Given the description of an element on the screen output the (x, y) to click on. 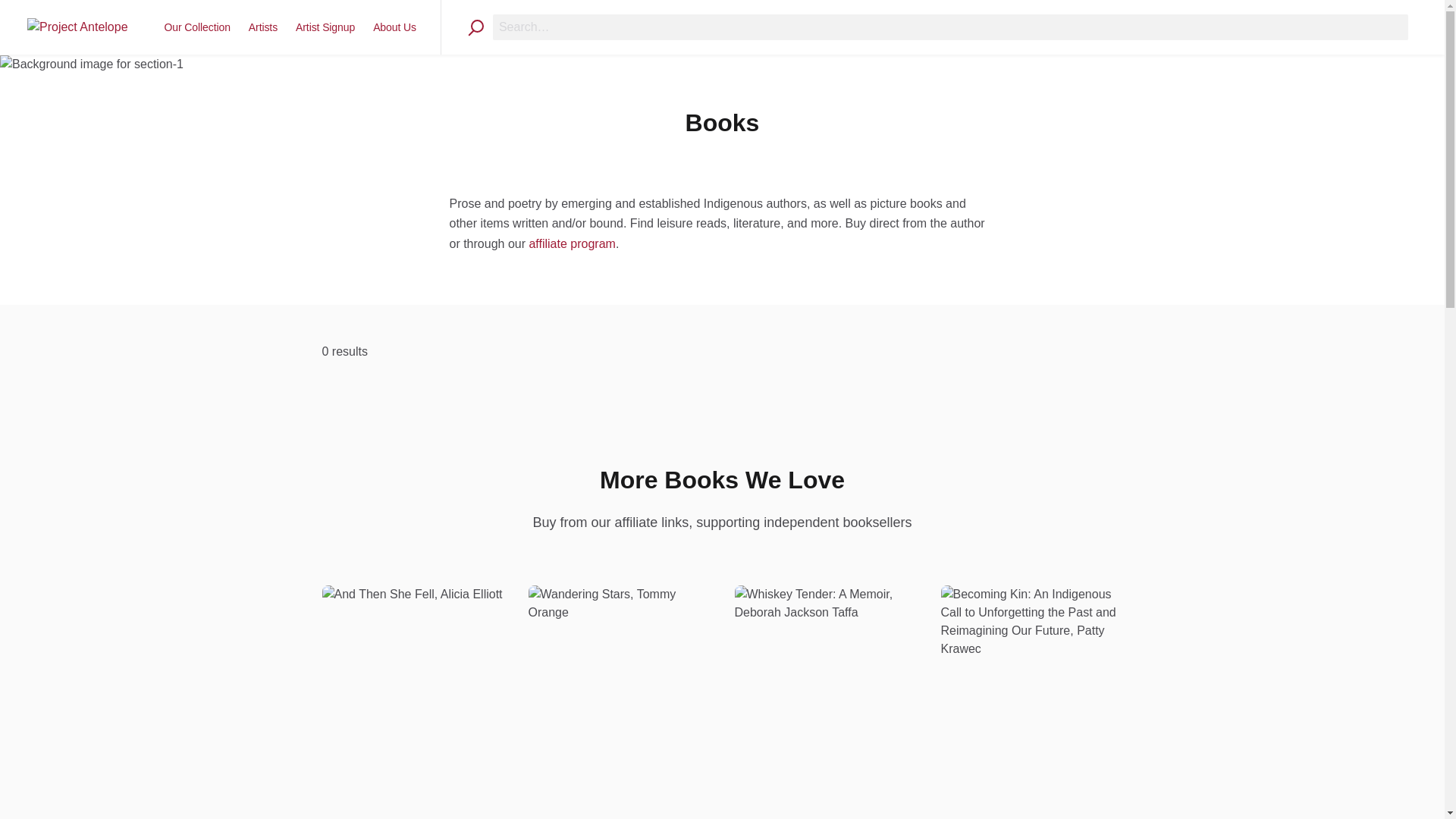
Artists (263, 27)
Artist Signup (325, 27)
About Us (394, 27)
Our Collection (197, 27)
affiliate program (571, 243)
